Given the description of an element on the screen output the (x, y) to click on. 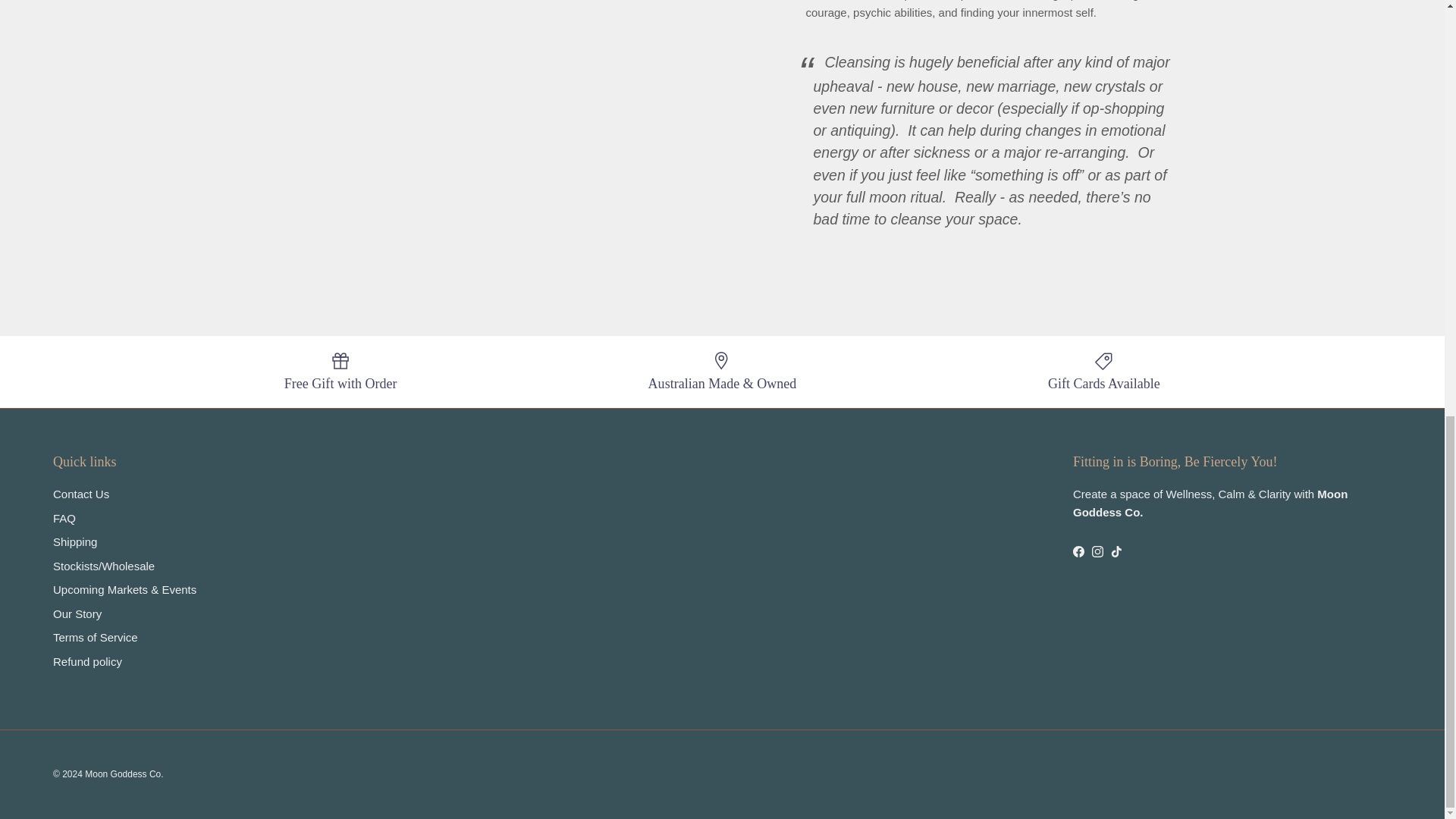
Moon Goddess Co on TikTok (1116, 551)
Moon Goddess Co on Instagram (1097, 551)
Moon Goddess Co on Facebook (1078, 551)
